Given the description of an element on the screen output the (x, y) to click on. 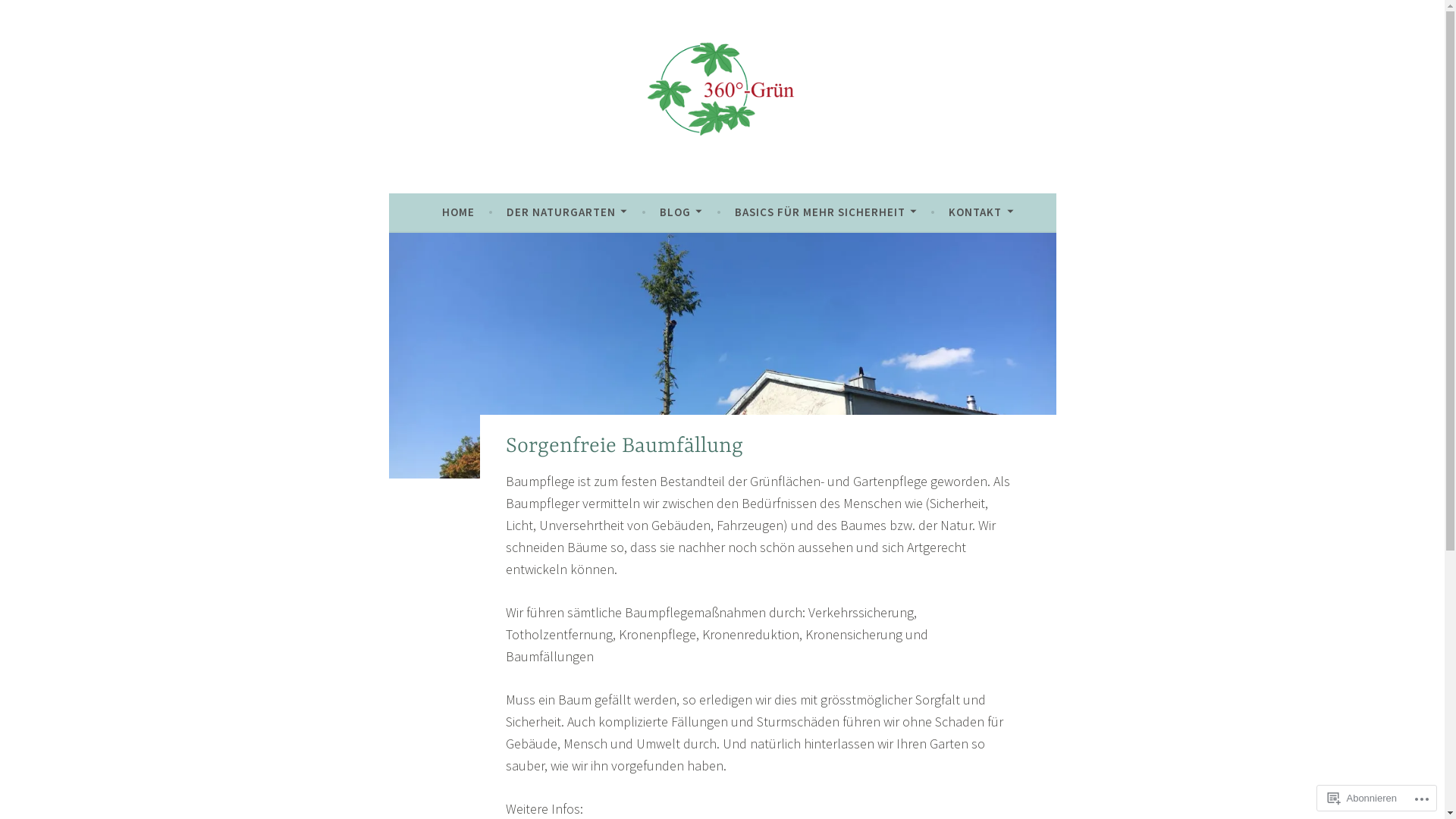
BLOG Element type: text (680, 211)
HOME Element type: text (458, 211)
DER NATURGARTEN Element type: text (566, 211)
Abonnieren Element type: text (1361, 797)
KONTAKT Element type: text (980, 211)
